Given the description of an element on the screen output the (x, y) to click on. 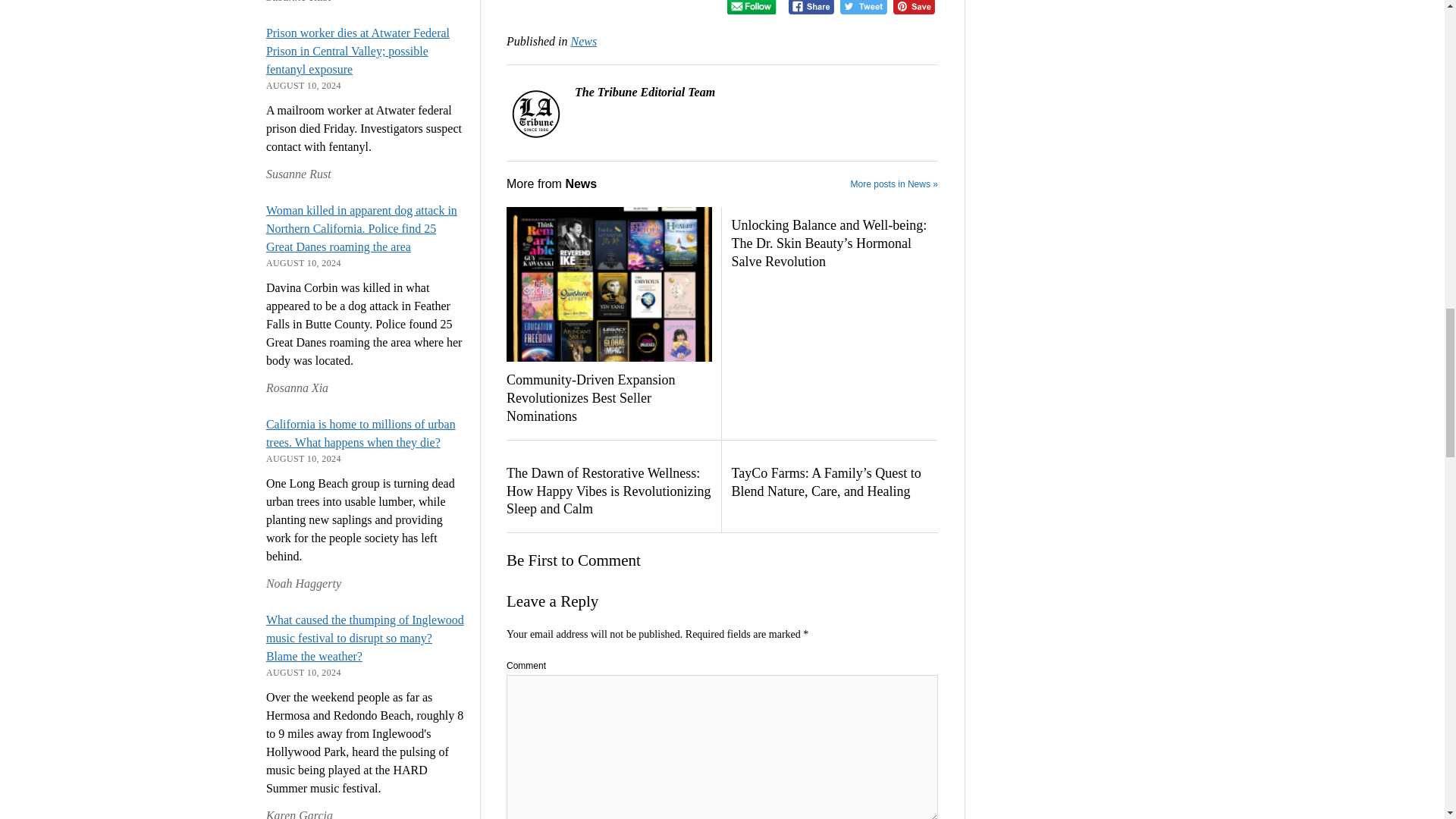
Pin Share (913, 7)
View all posts in News (583, 41)
Facebook Share (811, 7)
Tweet (863, 7)
